Given the description of an element on the screen output the (x, y) to click on. 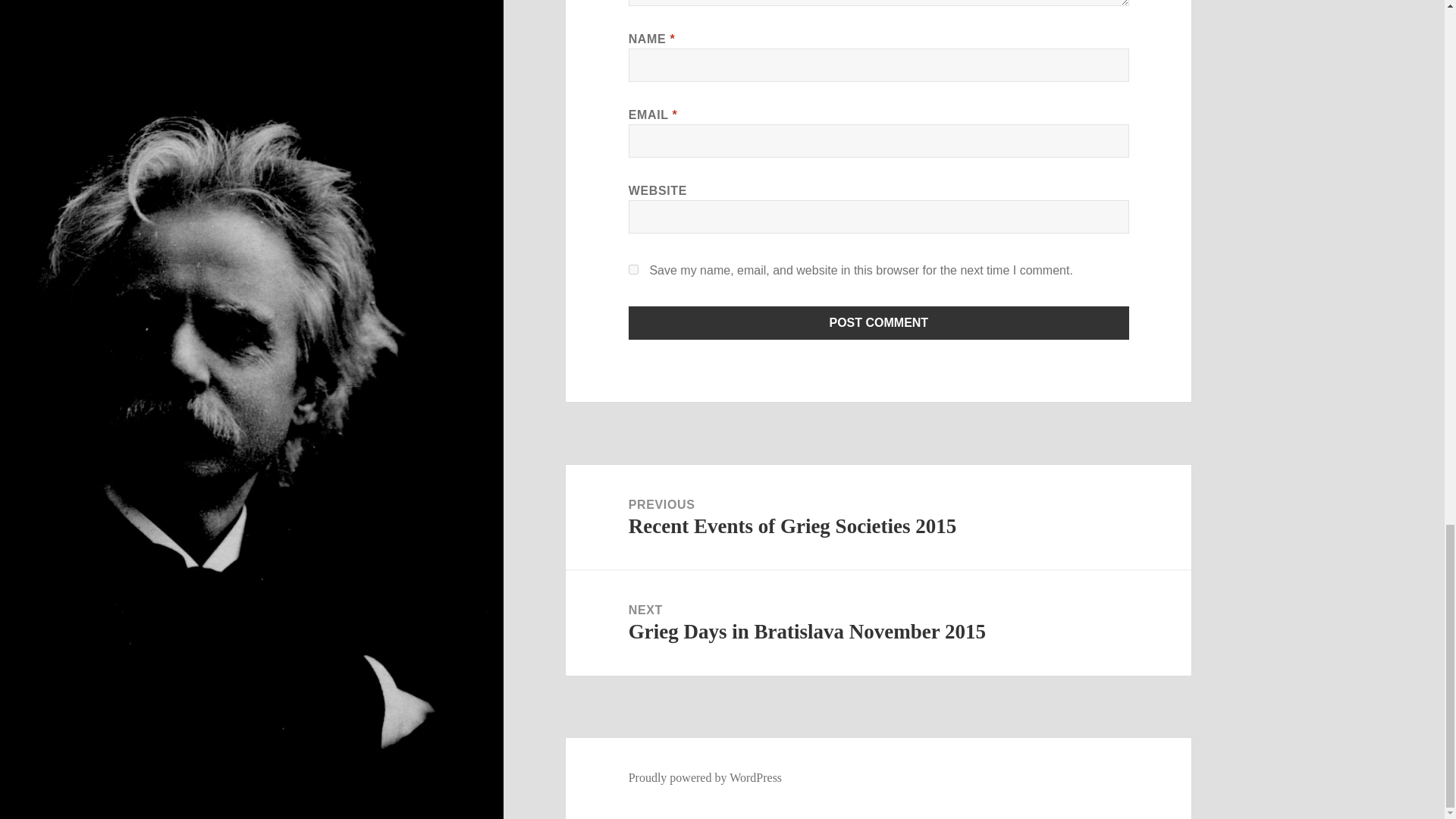
yes (633, 269)
Post Comment (878, 322)
